Given the description of an element on the screen output the (x, y) to click on. 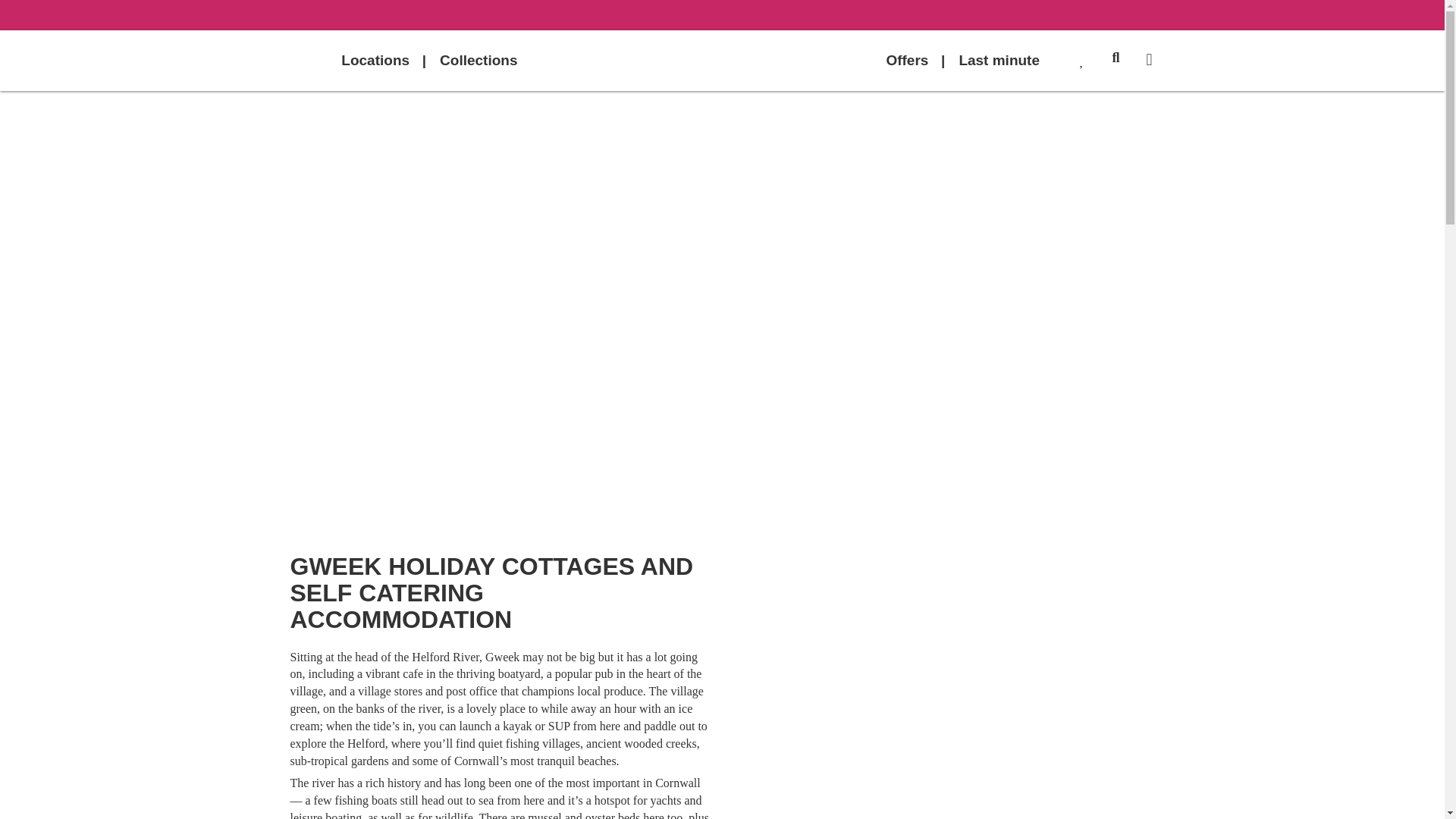
Forever Cornwall - Unique Retreats (721, 60)
Collections (478, 59)
Last minute (998, 59)
Locations (375, 59)
Offers (906, 59)
